Given the description of an element on the screen output the (x, y) to click on. 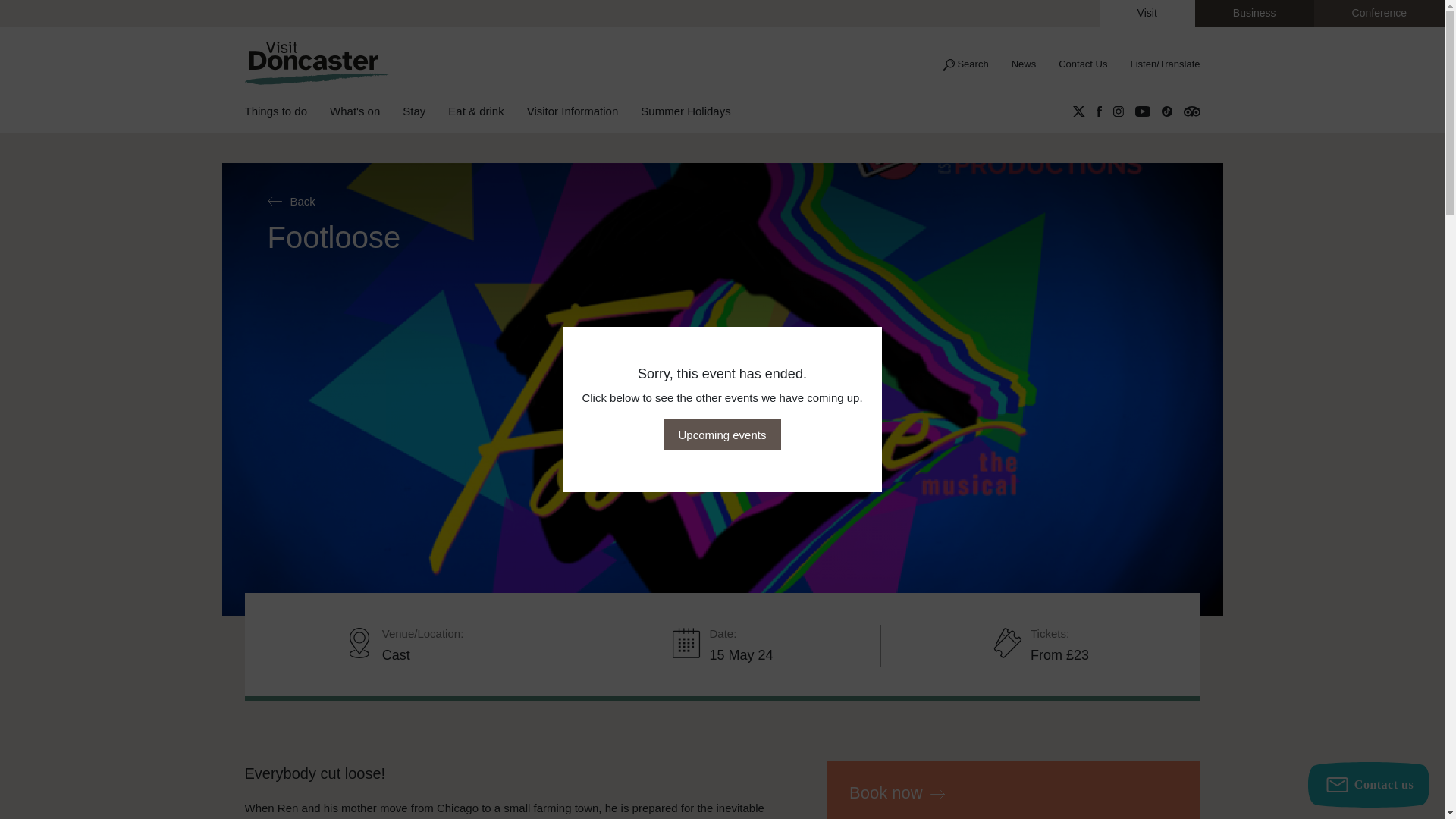
News (1024, 64)
Things to do (287, 112)
Search (964, 64)
Listen with the ReachDeck Toolbar (1158, 64)
Visit (1147, 13)
Business (1254, 13)
Stay (425, 112)
What's on (366, 112)
Contact Us (1082, 64)
